Given the description of an element on the screen output the (x, y) to click on. 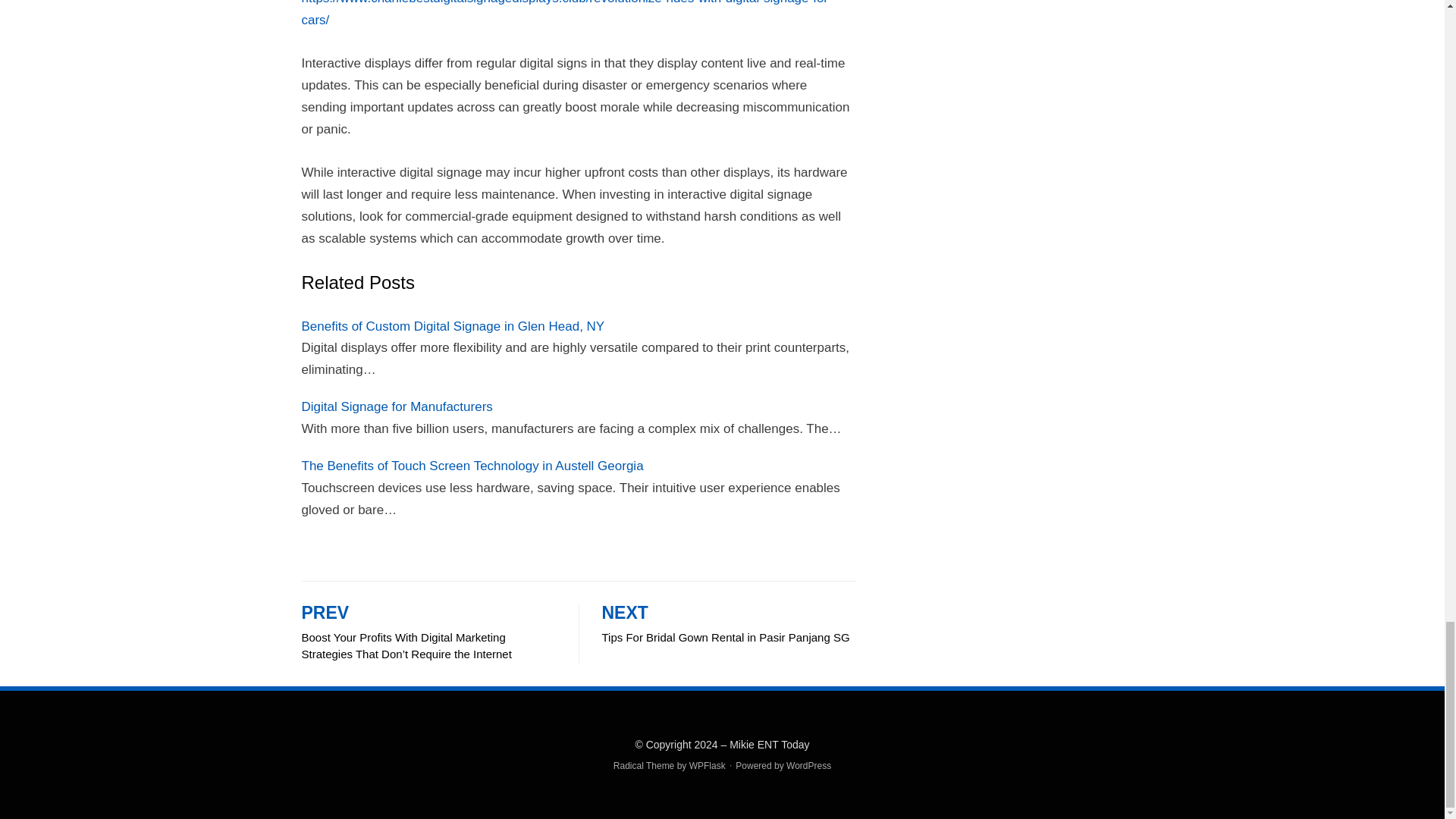
Benefits of Custom Digital Signage in Glen Head, NY (453, 326)
WordPress (808, 765)
Digital Signage for Manufacturers (397, 406)
WPFlask (706, 765)
The Benefits of Touch Screen Technology in Austell Georgia (472, 465)
